Given the description of an element on the screen output the (x, y) to click on. 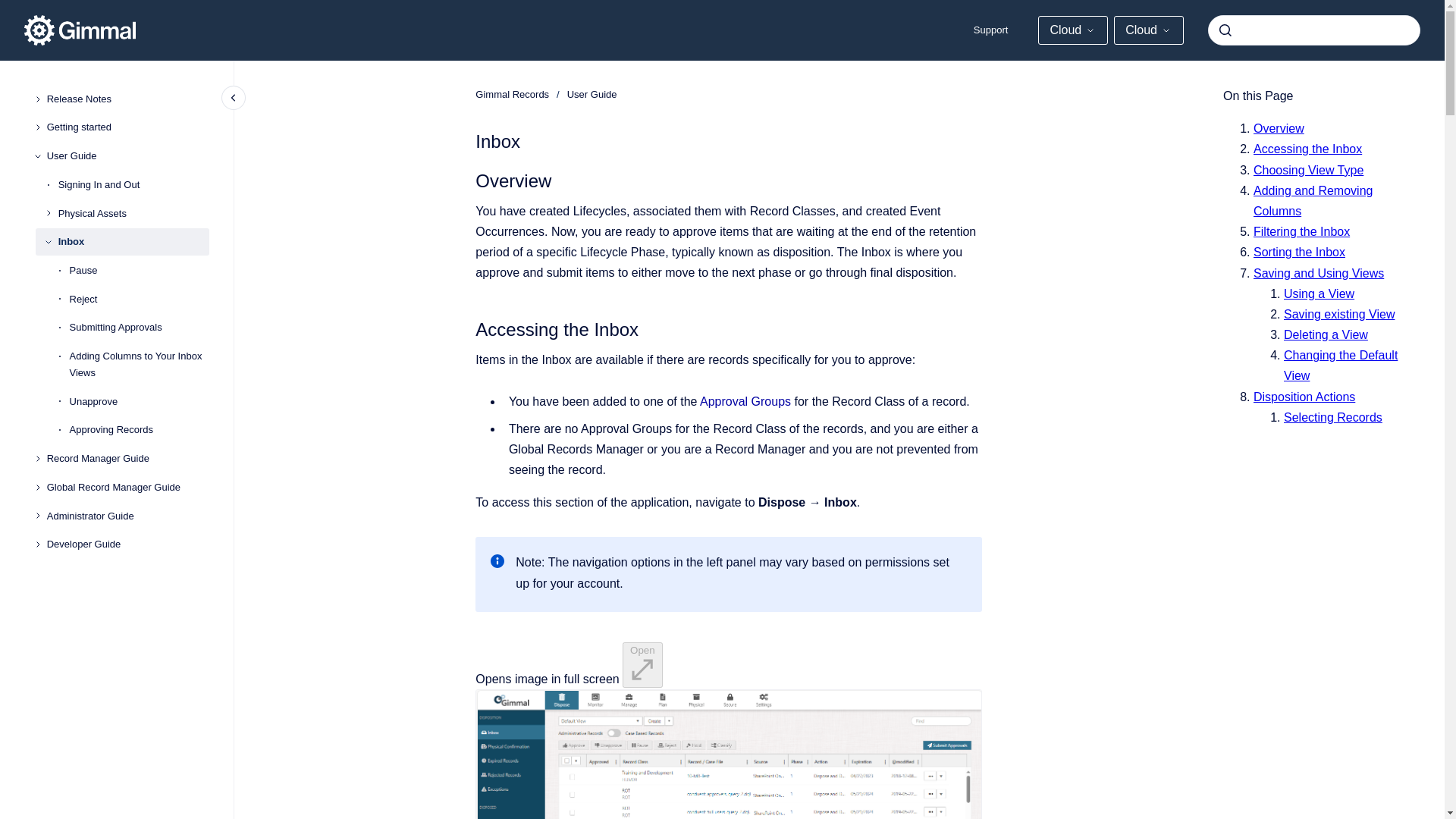
Adding Columns to Your Inbox Views (139, 364)
Release Notes (127, 99)
Developer Guide (127, 543)
Record Manager Guide (127, 458)
Inbox (133, 241)
User Guide (127, 155)
Global Record Manager Guide (127, 487)
Cloud (1073, 30)
Approval Groups (745, 400)
Getting started (127, 127)
Support (990, 29)
Unapprove (139, 401)
Pause (139, 270)
Physical Assets (133, 213)
